Given the description of an element on the screen output the (x, y) to click on. 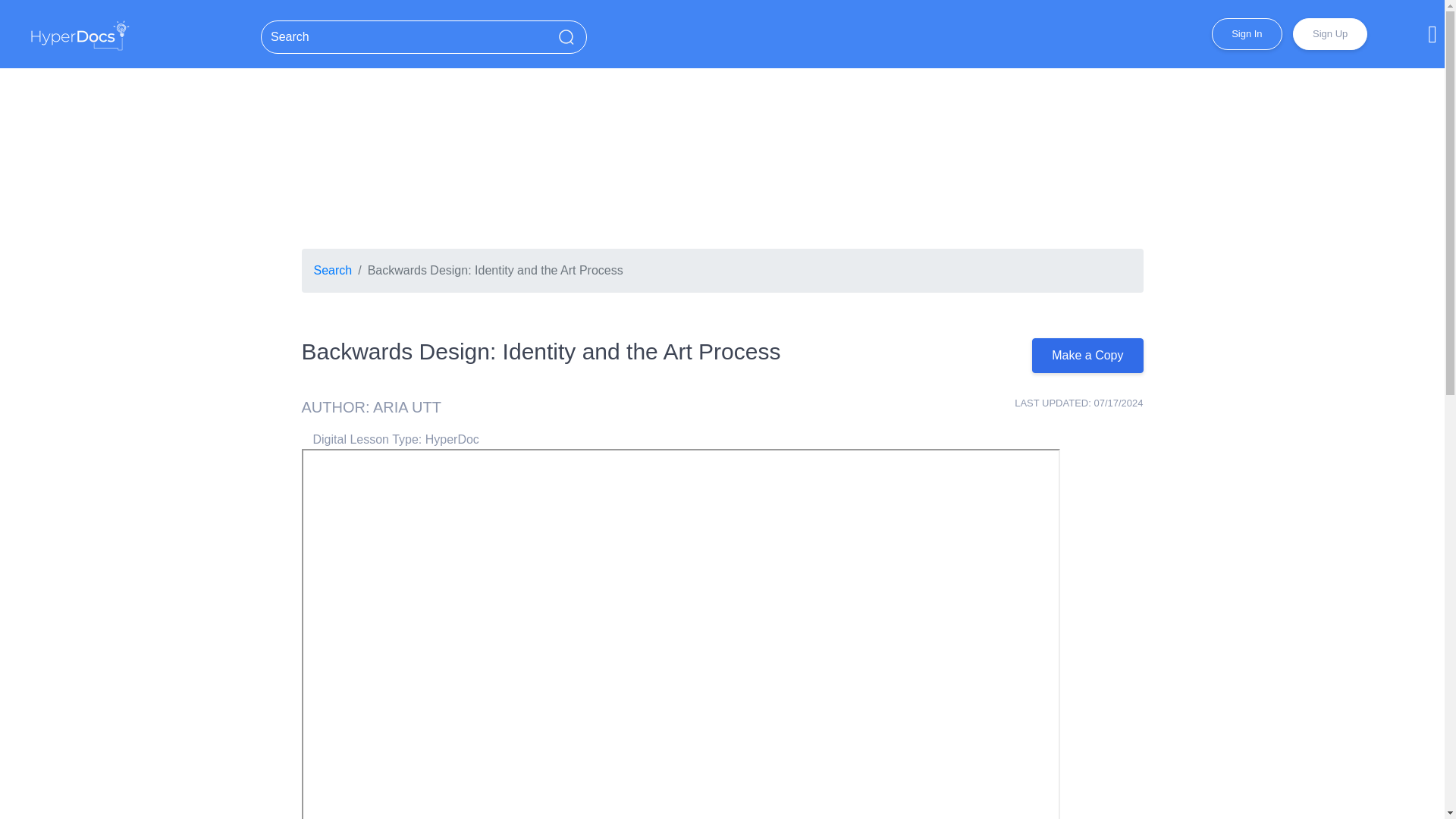
AUTHOR: ARIA UTT (371, 406)
Search (333, 269)
Sign Up (1329, 33)
Sign In (1246, 33)
Make a Copy (1087, 355)
